Given the description of an element on the screen output the (x, y) to click on. 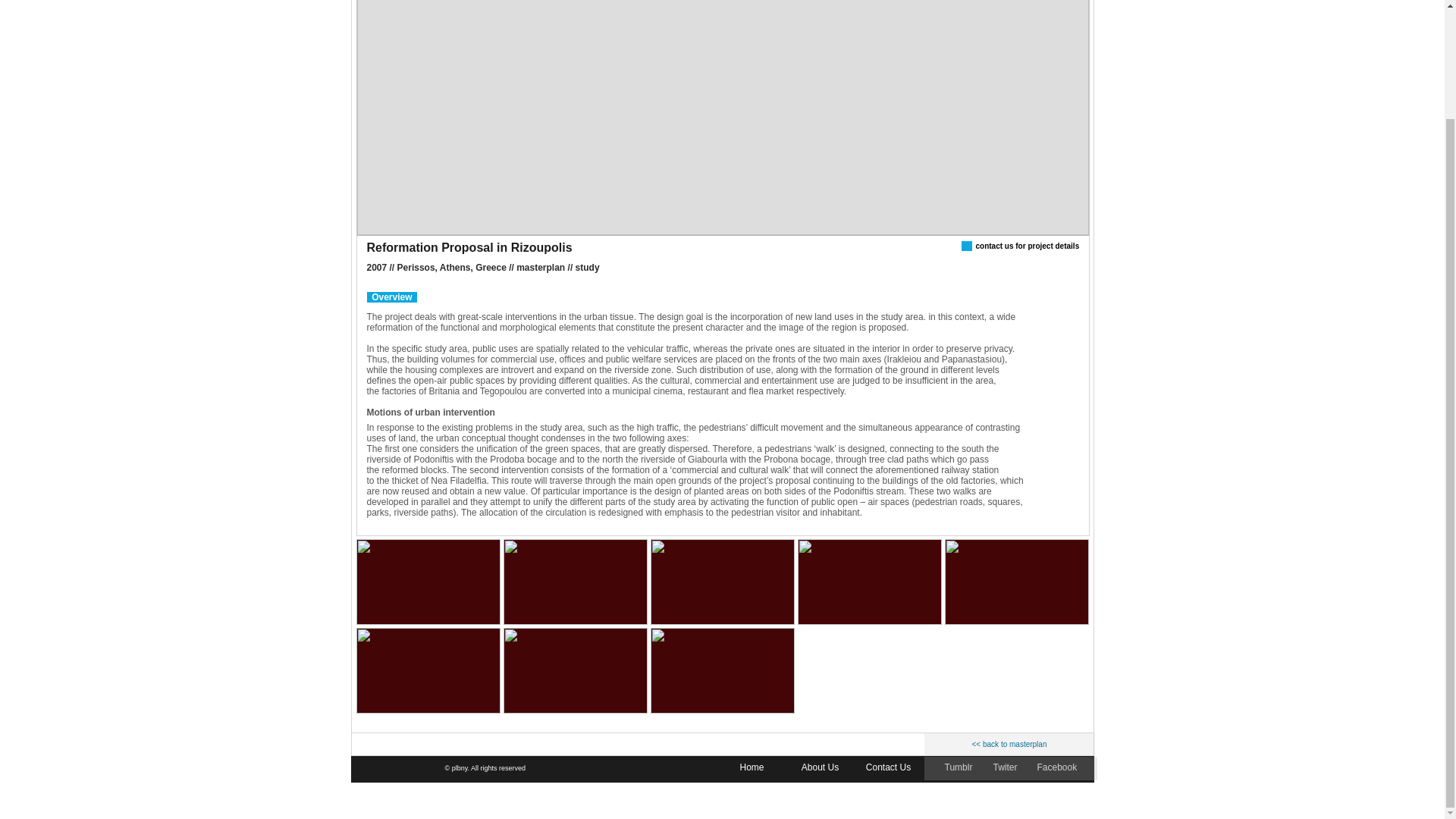
contact us for project details (1026, 245)
Home (751, 767)
Twiter (1006, 767)
About Us (819, 767)
Facebook (1057, 767)
Tumblr (959, 767)
Contact Us (887, 767)
